Given the description of an element on the screen output the (x, y) to click on. 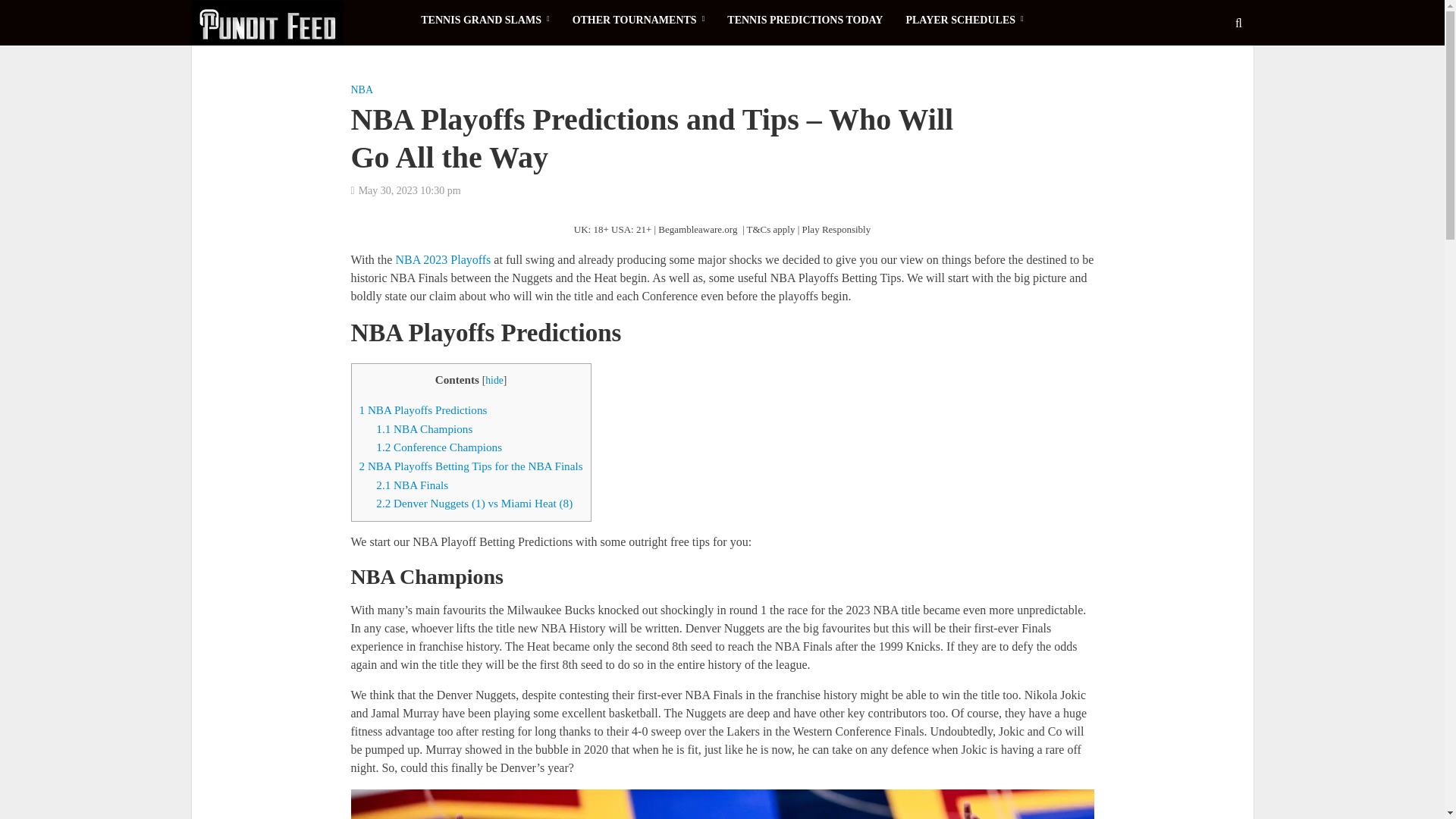
TENNIS PREDICTIONS TODAY (804, 20)
PLAYER SCHEDULES (963, 20)
NBA 2023 Playoffs (442, 261)
OTHER TOURNAMENTS (638, 20)
NBA (361, 91)
TENNIS GRAND SLAMS (484, 20)
